Given the description of an element on the screen output the (x, y) to click on. 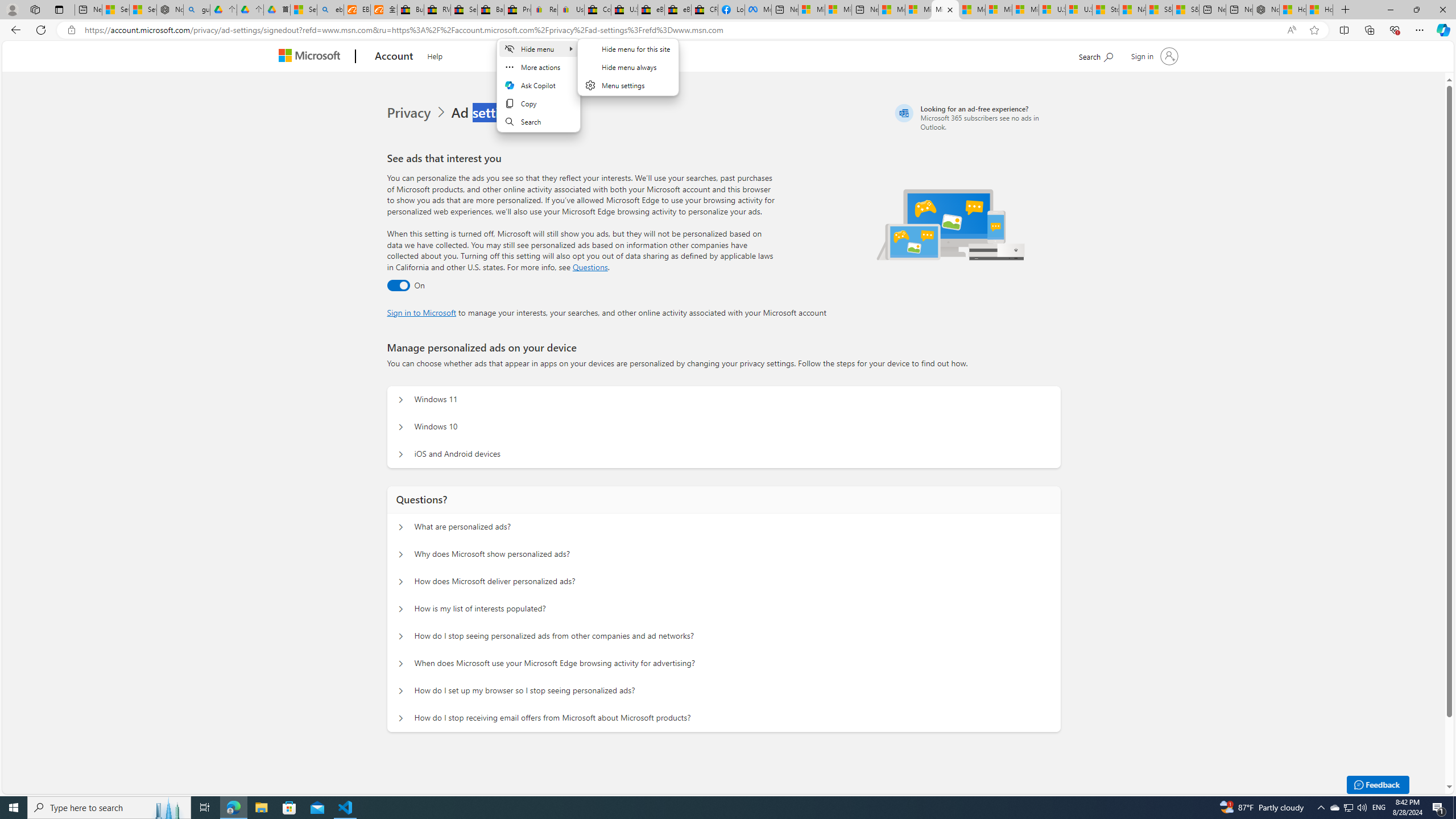
Help (435, 54)
RV, Trailer & Camper Steps & Ladders for sale | eBay (437, 9)
View site information (70, 29)
Browser essentials (1394, 29)
User Privacy Notice | eBay (571, 9)
Address and search bar (680, 29)
ebay - Search (329, 9)
Split screen (1344, 29)
Consumer Health Data Privacy Policy - eBay Inc. (597, 9)
How to Use a Monitor With Your Closed Laptop (1319, 9)
